Given the description of an element on the screen output the (x, y) to click on. 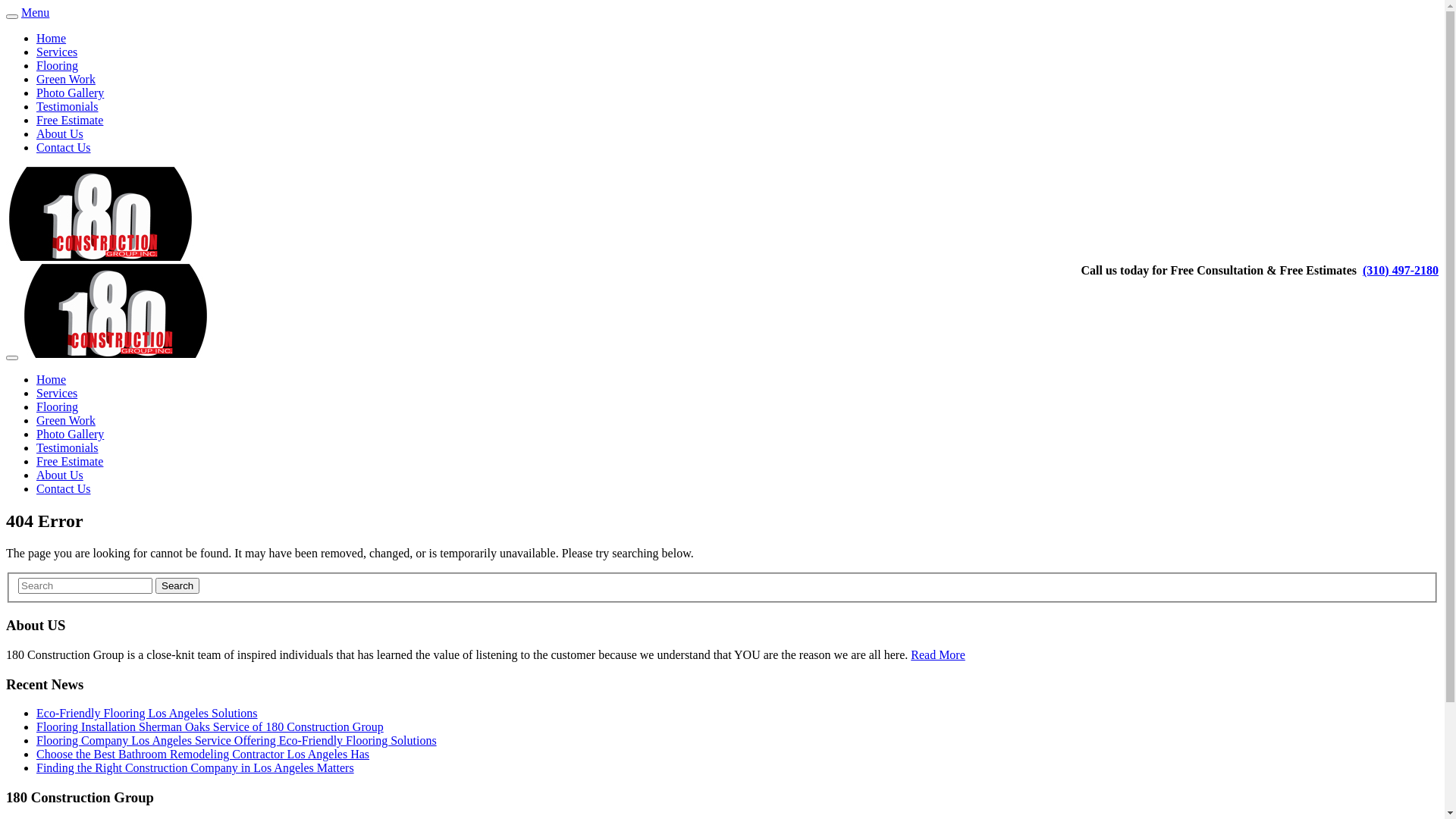
Eco-Friendly Flooring Los Angeles Solutions Element type: text (146, 712)
Free Estimate Element type: text (69, 119)
Green Work Element type: text (65, 420)
(310) 497-2180 Element type: text (1400, 269)
Home Element type: text (50, 37)
About Us Element type: text (59, 474)
Testimonials Element type: text (67, 106)
Read More Element type: text (937, 654)
Photo Gallery Element type: text (69, 92)
Testimonials Element type: text (67, 447)
Services Element type: text (56, 392)
Home Element type: text (50, 379)
About Us Element type: text (59, 133)
Contact Us Element type: text (63, 488)
Flooring Element type: text (57, 406)
Free Estimate Element type: text (69, 461)
Search Element type: text (177, 585)
Contact Us Element type: text (63, 147)
Green Work Element type: text (65, 78)
Flooring Element type: text (57, 65)
Services Element type: text (56, 51)
Photo Gallery Element type: text (69, 433)
Menu Element type: text (35, 12)
